Given the description of an element on the screen output the (x, y) to click on. 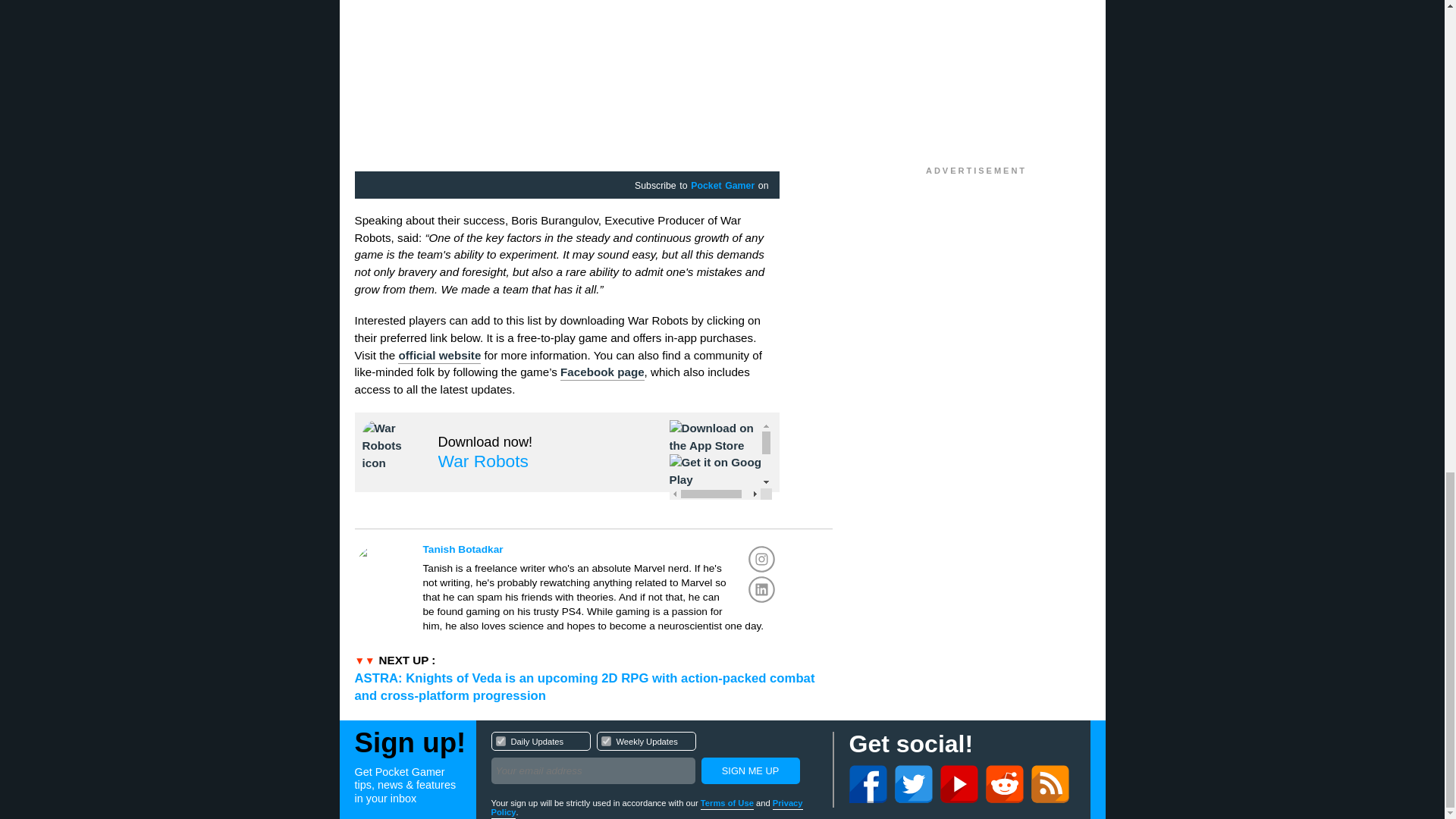
Facebook page (602, 372)
1 (500, 741)
Pocket Gamer (722, 186)
official website (438, 355)
2 (654, 759)
Tanish Botadkar (604, 741)
Sign Me Up (600, 549)
War Robots (749, 770)
